Given the description of an element on the screen output the (x, y) to click on. 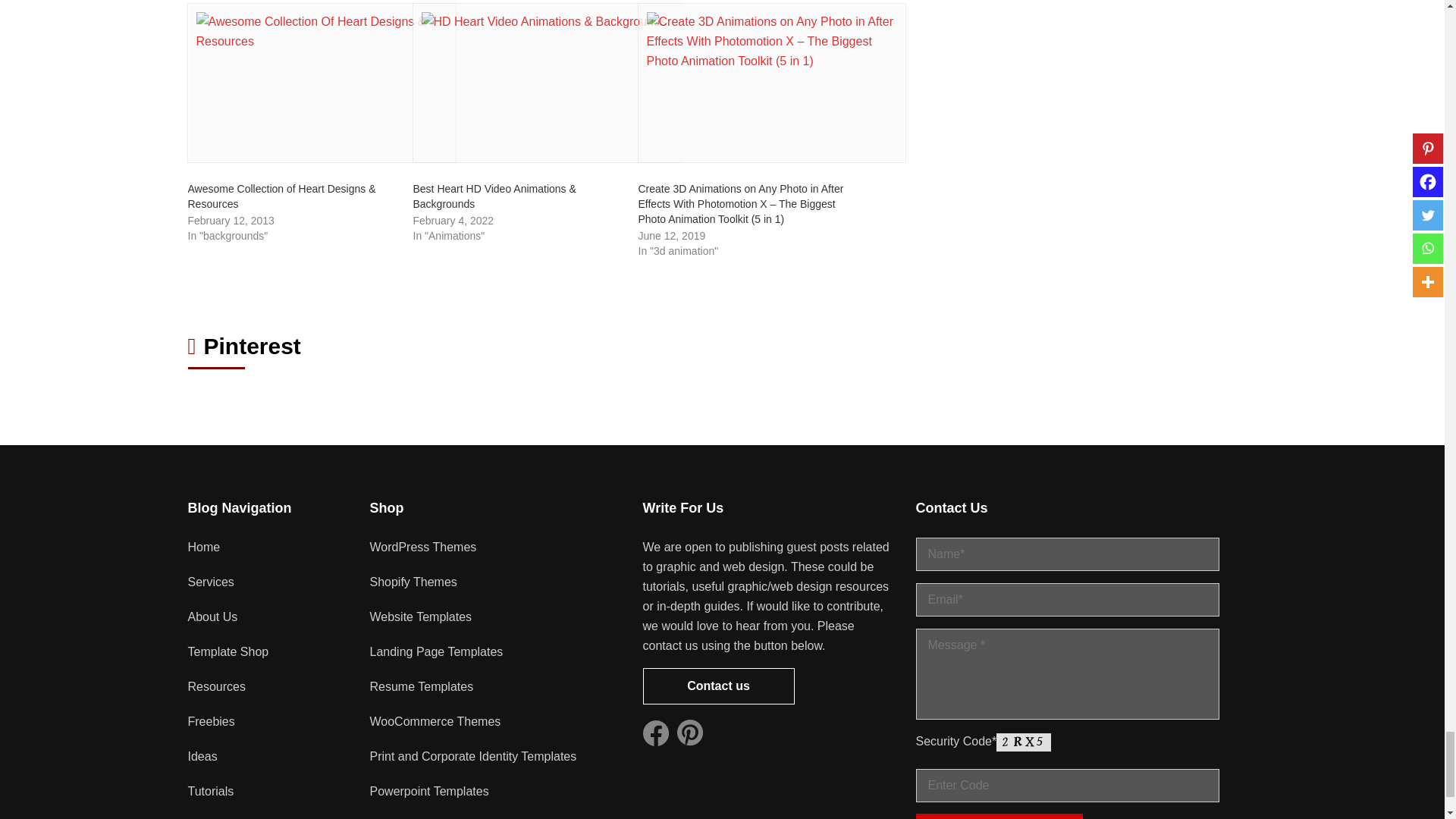
Send (999, 816)
